Given the description of an element on the screen output the (x, y) to click on. 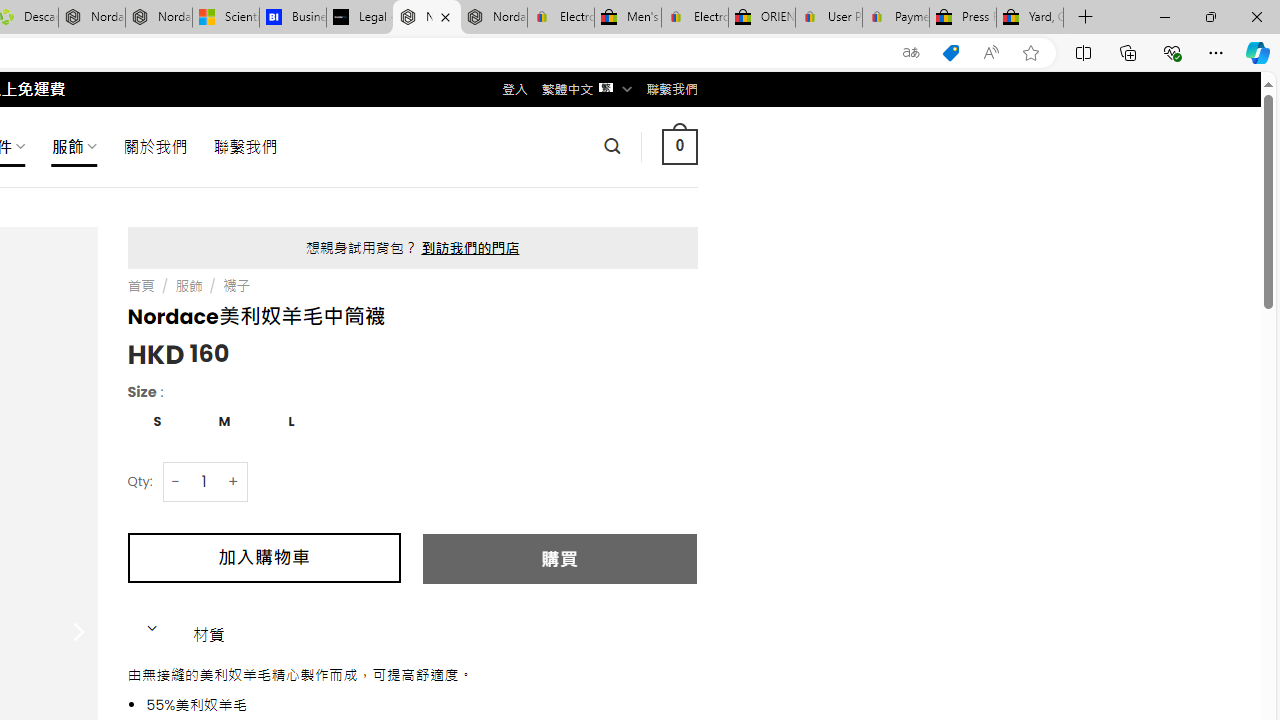
- (175, 480)
